Given the description of an element on the screen output the (x, y) to click on. 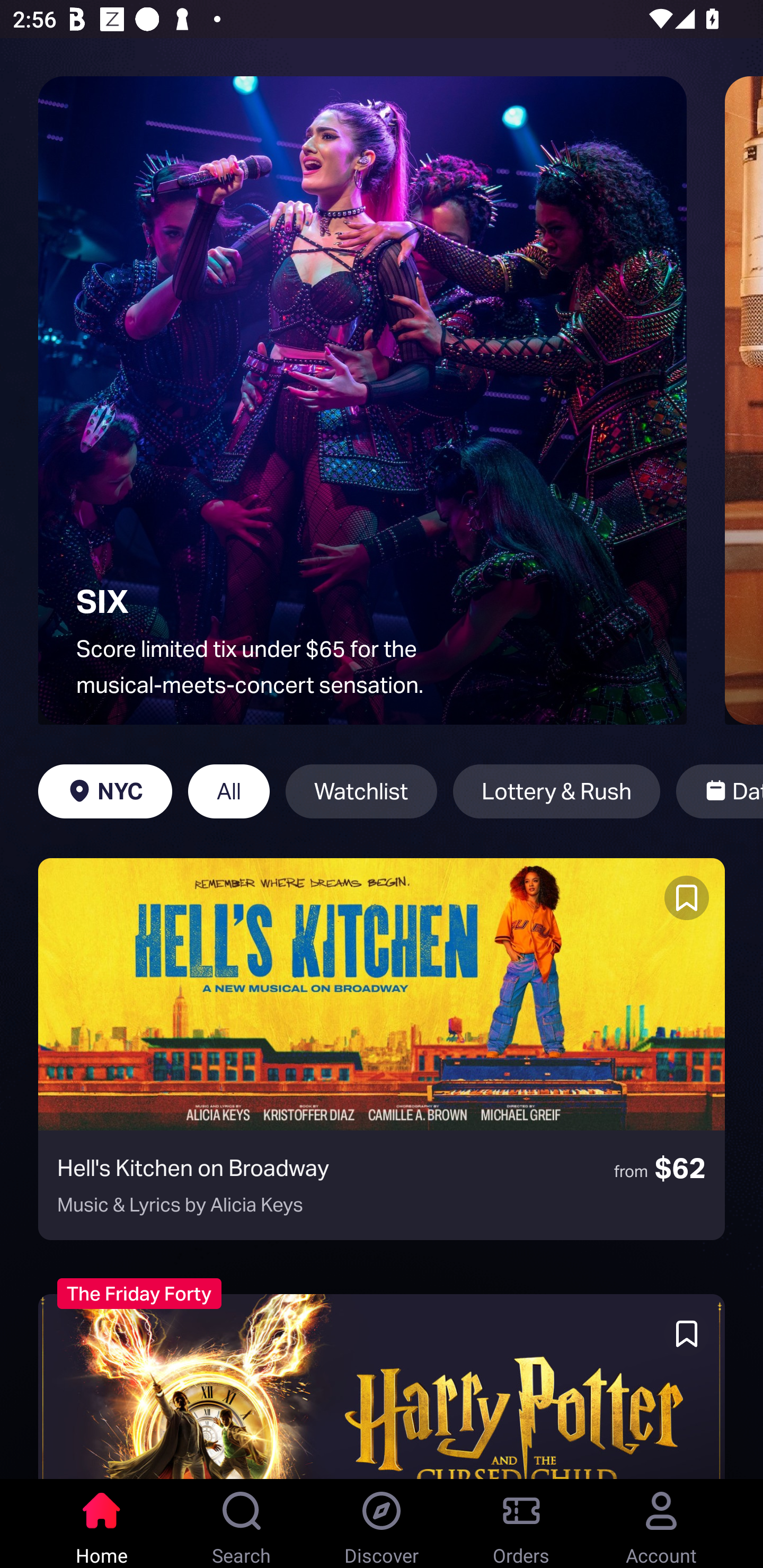
NYC (105, 791)
All (228, 791)
Watchlist (361, 791)
Lottery & Rush (556, 791)
Search (241, 1523)
Discover (381, 1523)
Orders (521, 1523)
Account (660, 1523)
